Given the description of an element on the screen output the (x, y) to click on. 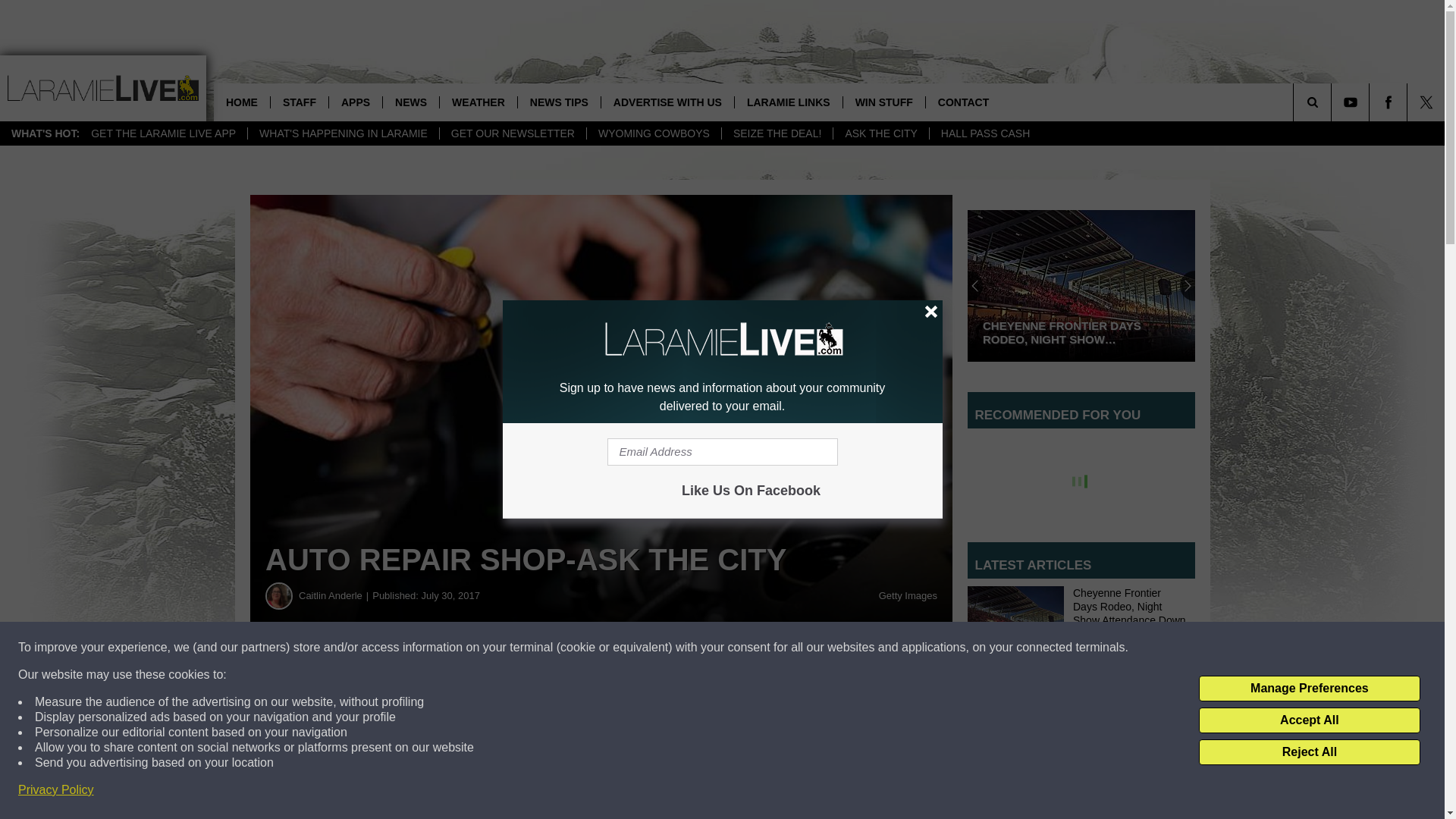
LARAMIE LINKS (788, 102)
HALL PASS CASH (985, 133)
NEWS (410, 102)
Share on Twitter (741, 681)
CONTACT (962, 102)
NEWS TIPS (557, 102)
Email Address (722, 452)
WHAT'S HAPPENING IN LARAMIE (343, 133)
Manage Preferences (1309, 688)
STAFF (299, 102)
SEARCH (1333, 102)
WIN STUFF (883, 102)
Accept All (1309, 720)
WEATHER (477, 102)
ASK THE CITY (880, 133)
